Given the description of an element on the screen output the (x, y) to click on. 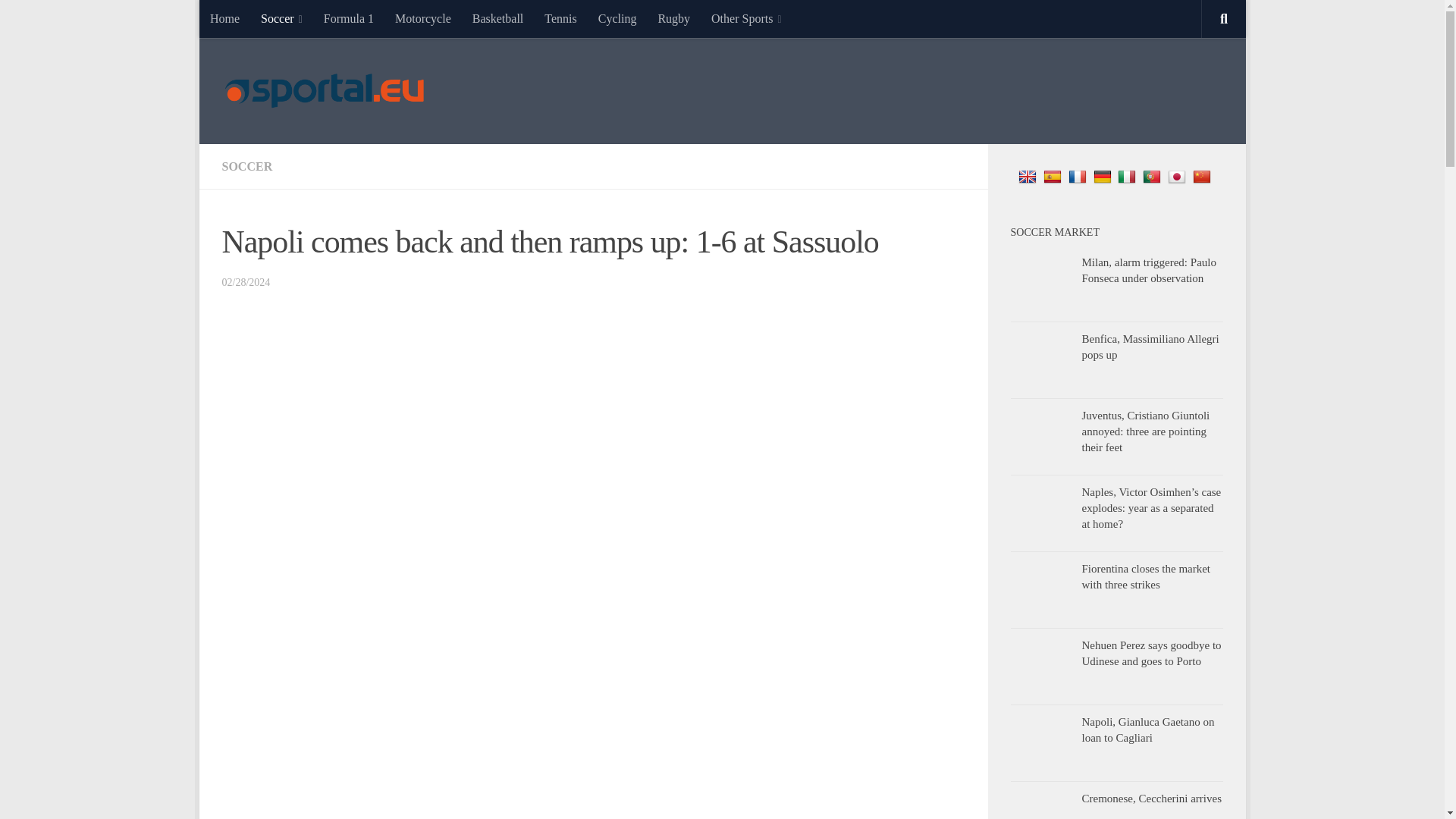
Basketball (497, 18)
Soccer (281, 18)
Rugby (673, 18)
Cycling (616, 18)
Home (223, 18)
Skip to content (258, 20)
SOCCER (246, 165)
Other Sports (746, 18)
Tennis (560, 18)
Motorcycle (422, 18)
